Given the description of an element on the screen output the (x, y) to click on. 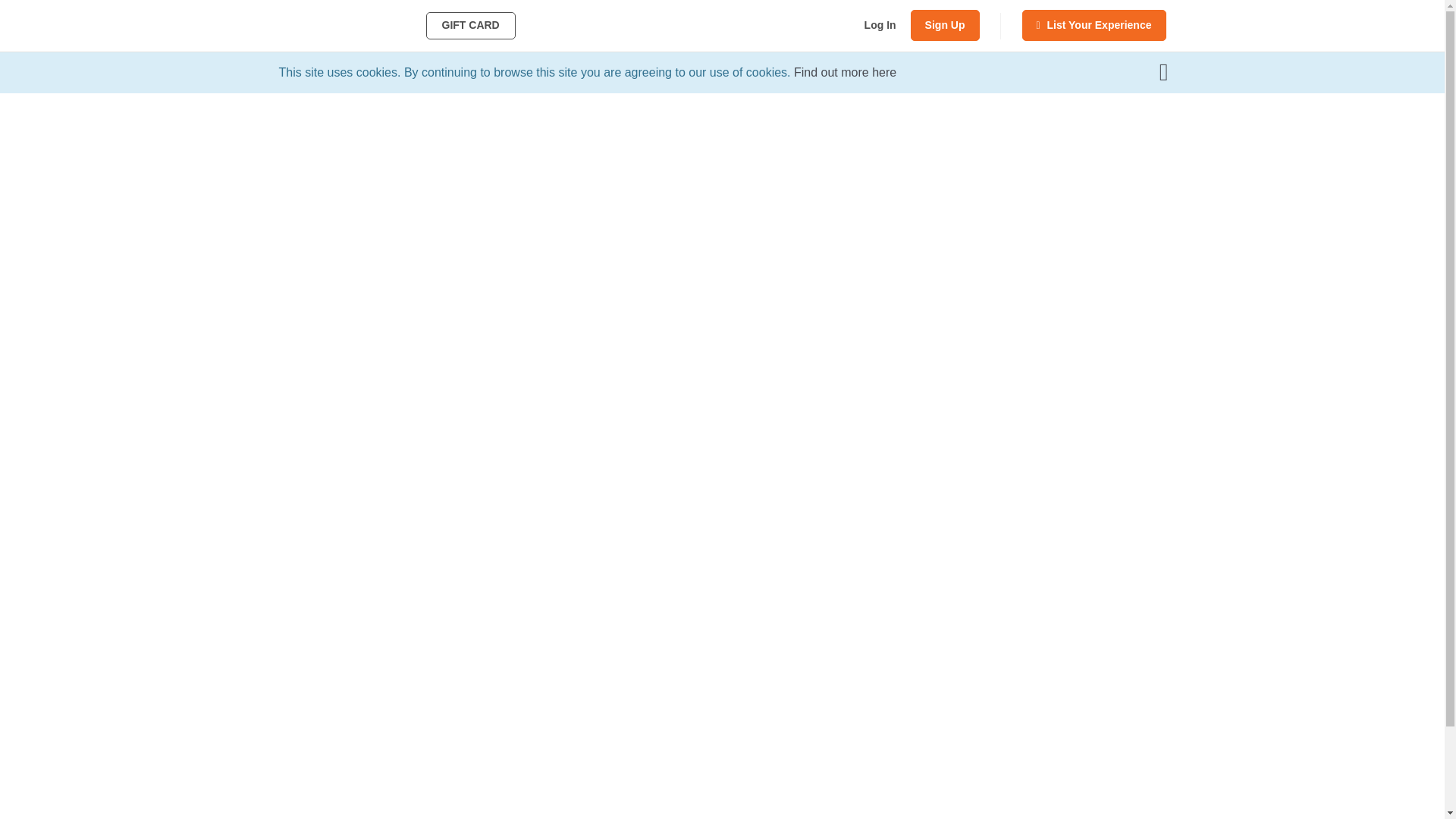
List Your Experience (1094, 24)
Log In (880, 24)
Sign Up (945, 24)
GIFT CARD (470, 25)
Find out more here (844, 72)
